Given the description of an element on the screen output the (x, y) to click on. 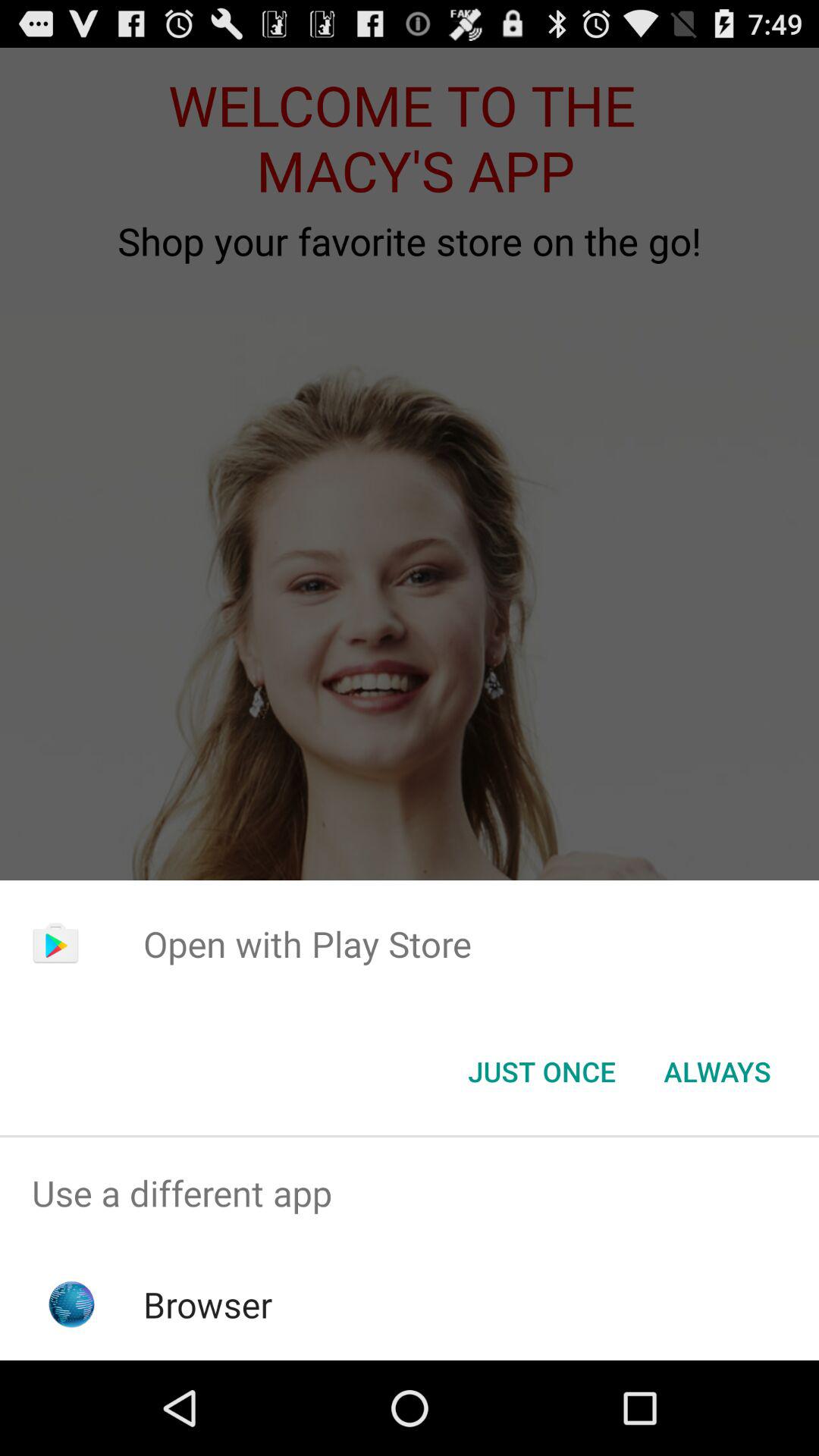
press the app below the open with play icon (717, 1071)
